Given the description of an element on the screen output the (x, y) to click on. 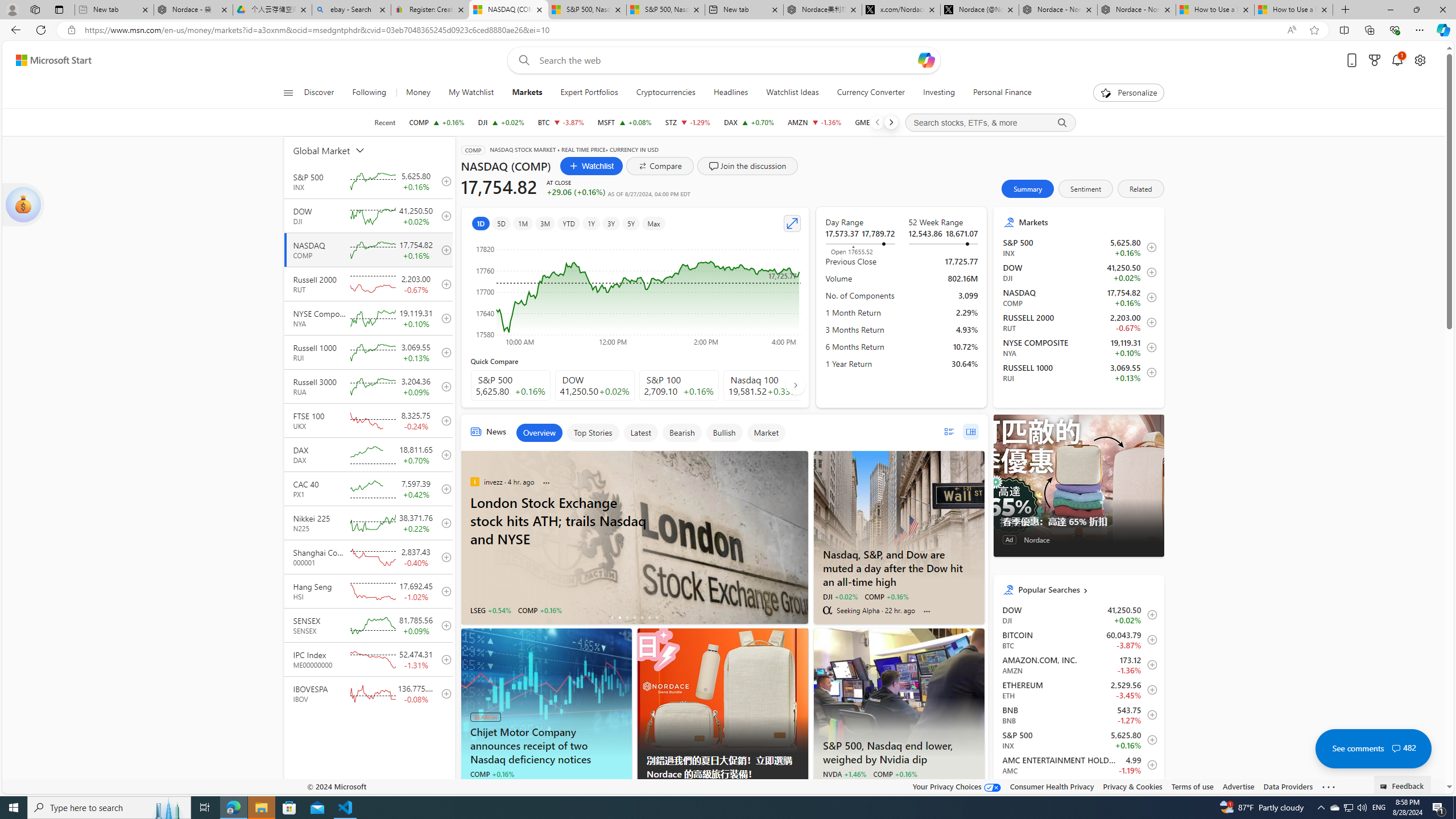
Enter your search term (726, 59)
DJI DOW increase 41,250.50 +9.98 +0.02% (500, 122)
Search stocks, ETFs, & more (989, 122)
Terms of use (1192, 785)
AutomationID: finance_carousel_navi_right (794, 384)
Web search (520, 60)
Cryptocurrencies (665, 92)
Watchlist (591, 166)
Expert Portfolios (589, 92)
